Given the description of an element on the screen output the (x, y) to click on. 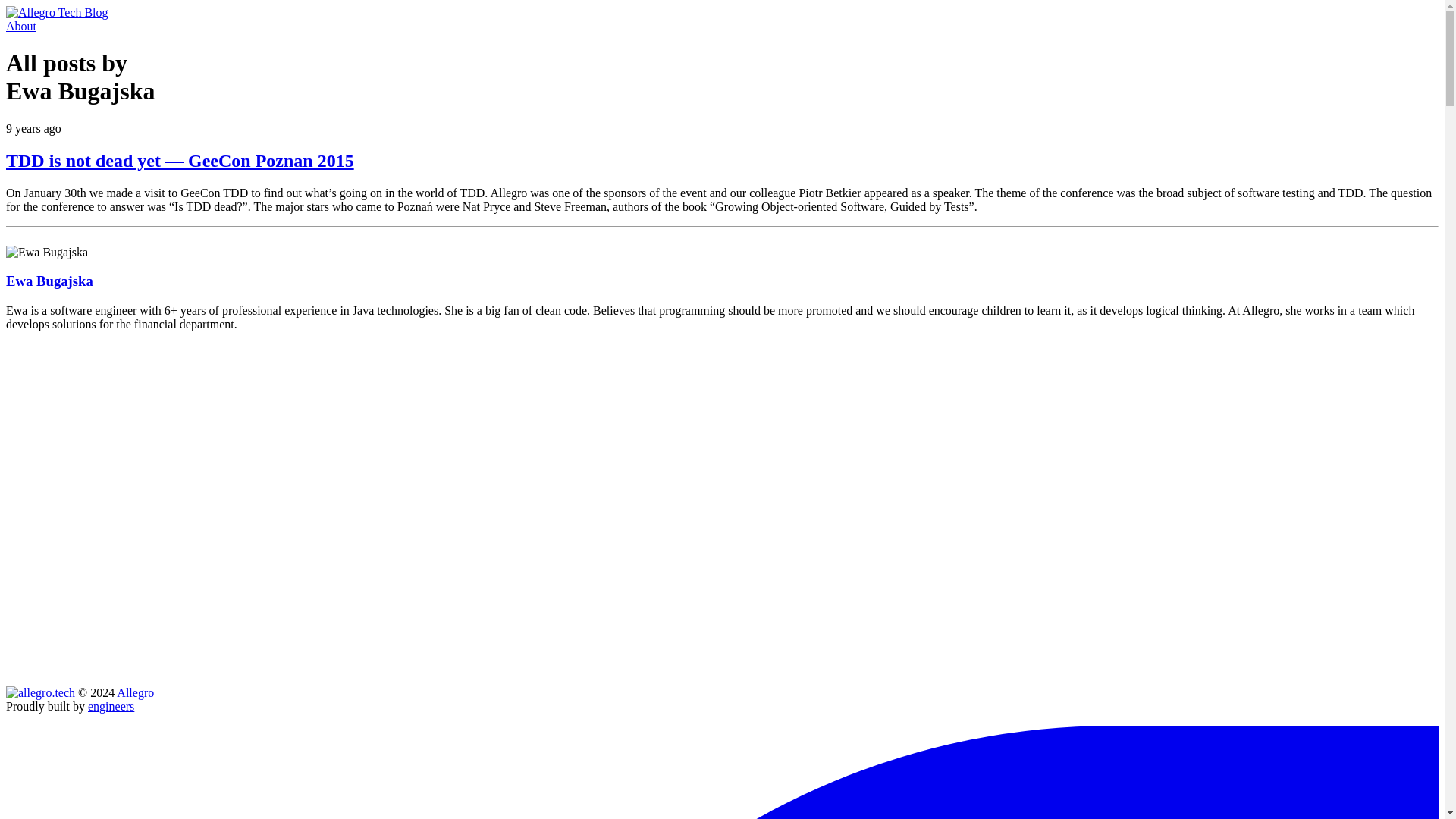
Ewa Bugajska (49, 280)
About (20, 25)
engineers (110, 706)
Allegro (135, 692)
